Given the description of an element on the screen output the (x, y) to click on. 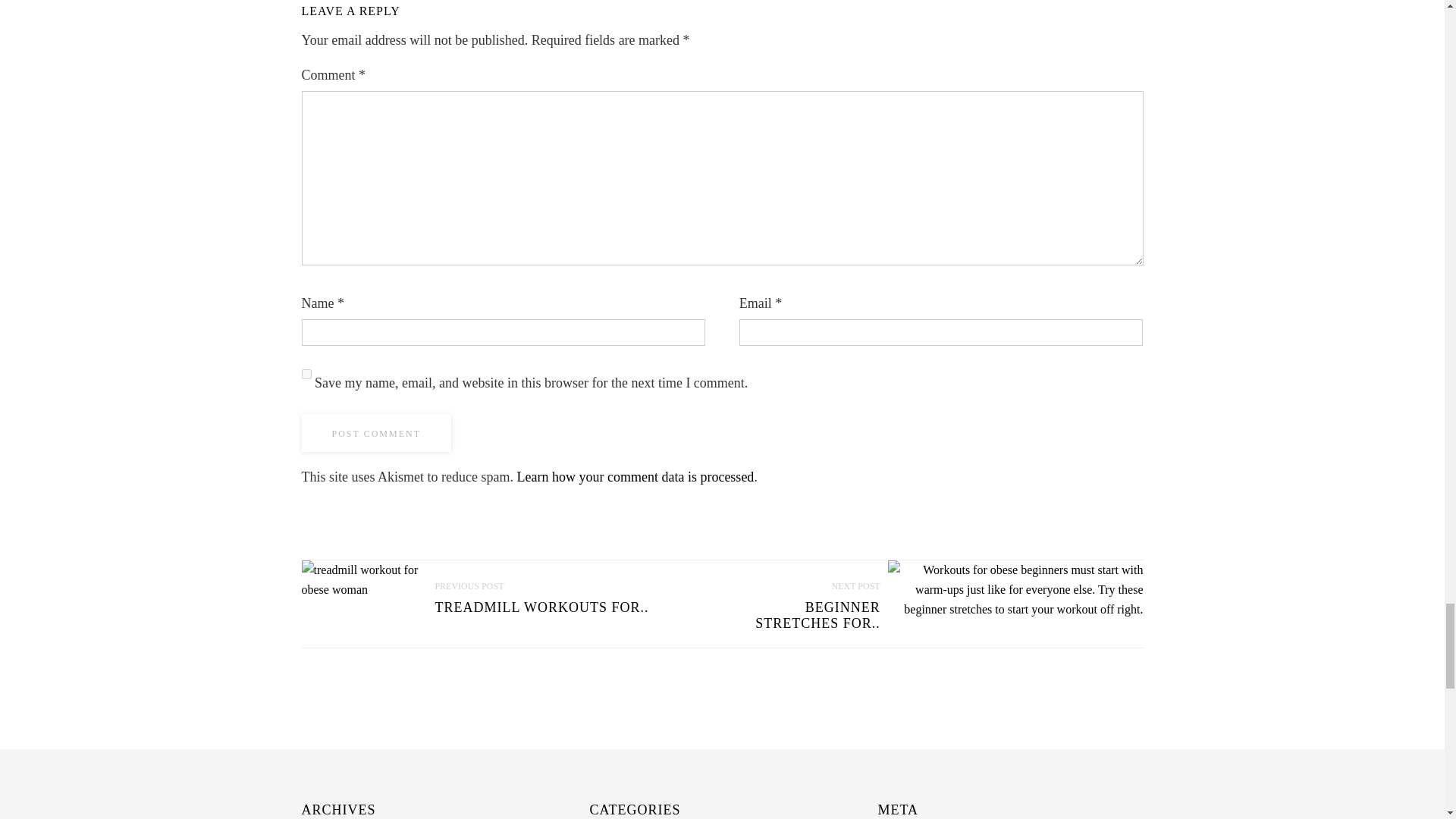
Post Comment (376, 433)
